Given the description of an element on the screen output the (x, y) to click on. 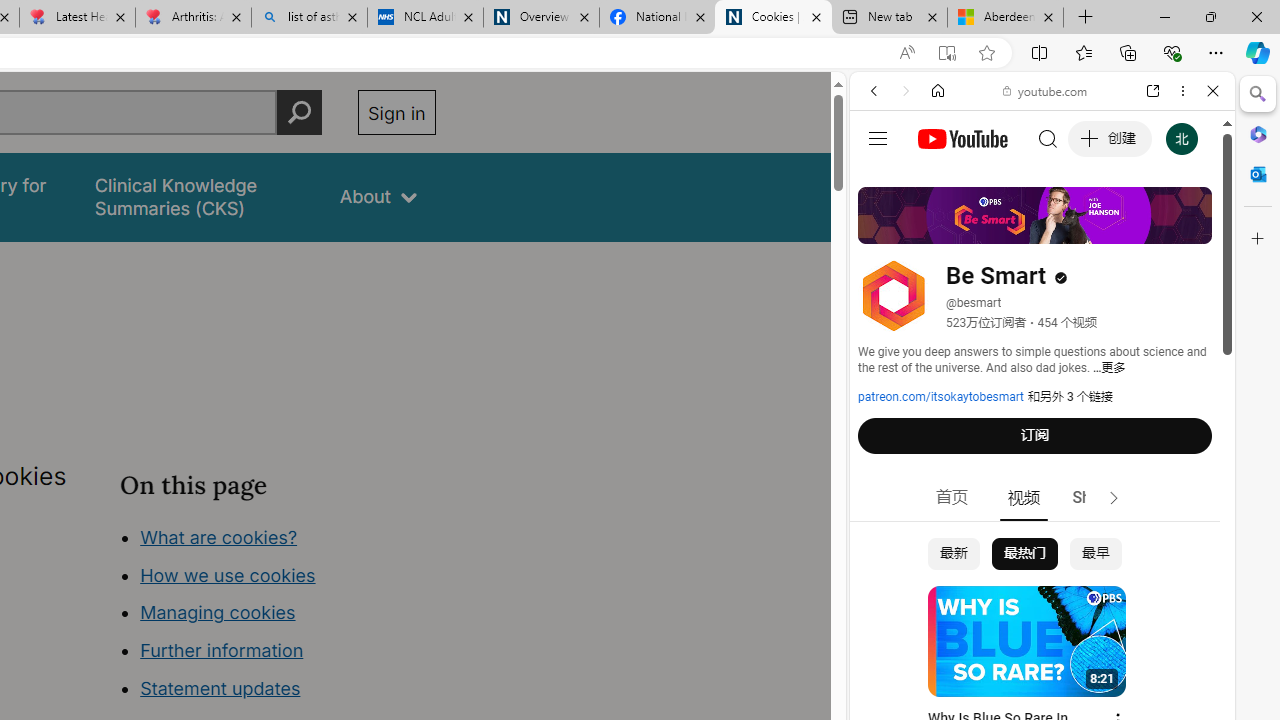
Show More Music (1164, 546)
Class: style-scope tp-yt-iron-icon (1114, 498)
Class: in-page-nav__list (277, 615)
What are cookies? (218, 536)
